Given the description of an element on the screen output the (x, y) to click on. 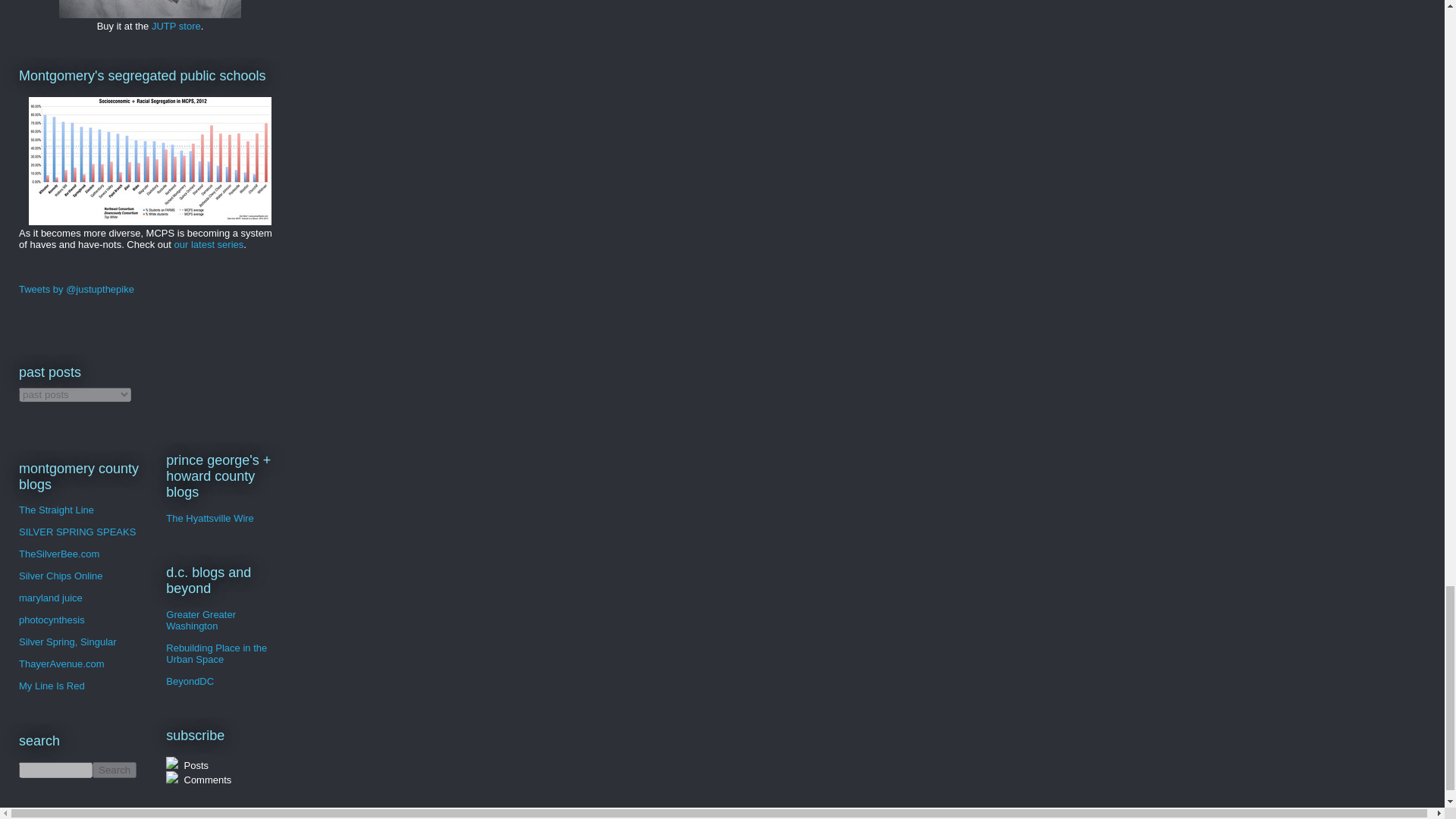
Search (114, 770)
Search (114, 770)
